Given the description of an element on the screen output the (x, y) to click on. 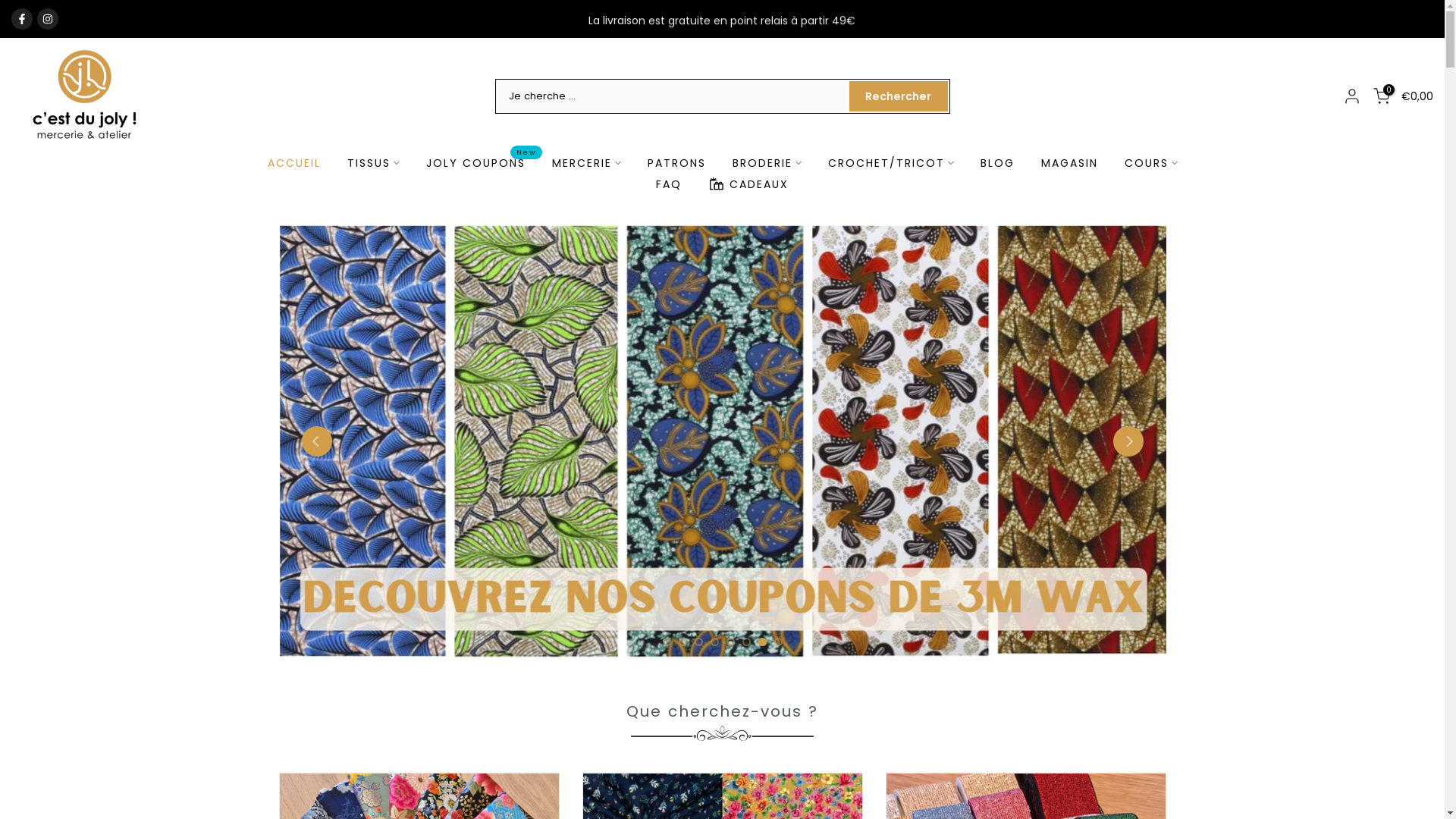
PATRONS Element type: text (675, 162)
BRODERIE Element type: text (766, 162)
CADEAUX Element type: text (747, 184)
JOLY COUPONS
New Element type: text (475, 162)
Suivre sur Instagram Element type: hover (47, 18)
ACCUEIL Element type: text (293, 162)
FAQ Element type: text (669, 184)
Rechercher Element type: text (898, 95)
TISSUS Element type: text (372, 162)
COURS Element type: text (1150, 162)
BLOG Element type: text (996, 162)
Suivre sur Facebook Element type: hover (21, 18)
MAGASIN Element type: text (1068, 162)
CROCHET/TRICOT Element type: text (890, 162)
MERCERIE Element type: text (585, 162)
